Given the description of an element on the screen output the (x, y) to click on. 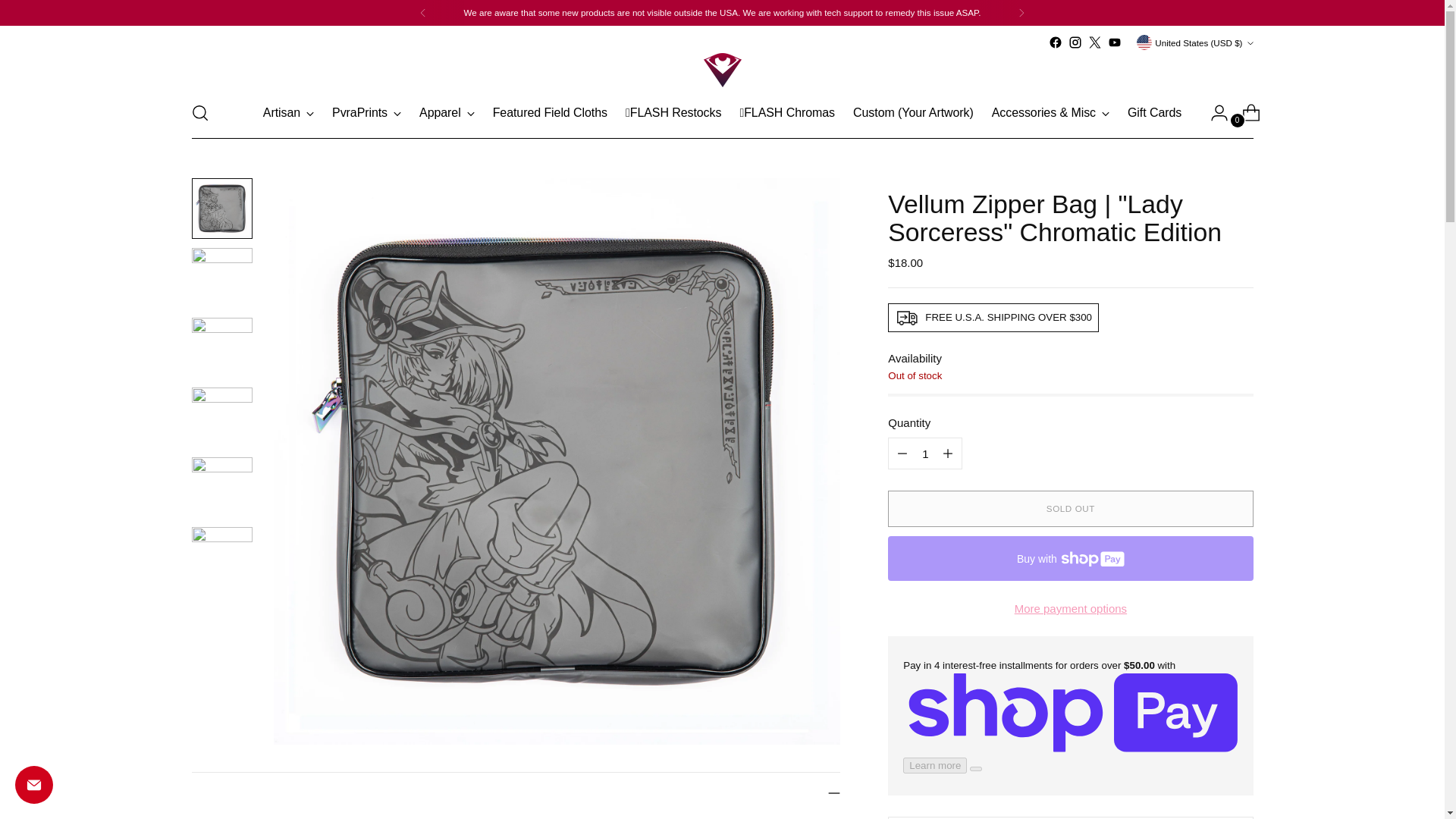
Pvramid on Twitter (1094, 42)
Pvramid on Instagram (1074, 42)
1 (925, 453)
Next (1021, 12)
Previous (422, 12)
Pvramid on Facebook (1055, 42)
Pvramid on YouTube (1114, 42)
